Given the description of an element on the screen output the (x, y) to click on. 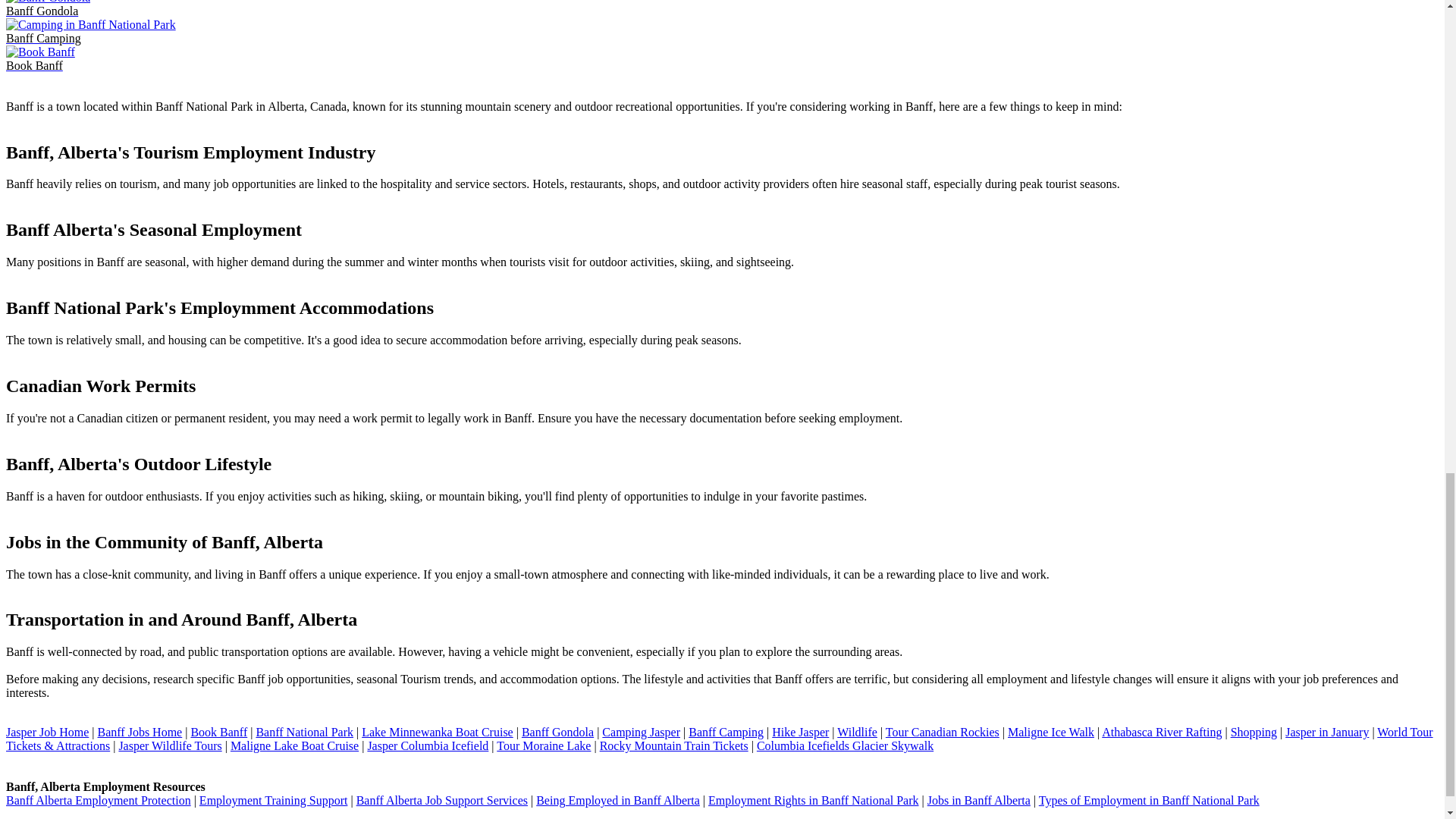
Jasper Columbia Icefield (426, 745)
Banff National Park (304, 731)
Jasper Job Home (46, 731)
Banff Jobs Home (140, 731)
Athabasca River Rafting (1161, 731)
Lake Minnewanka Boat Cruise (437, 731)
Employment Rights in Banff National Park (812, 799)
Maligne Lake Boat Cruise (294, 745)
Tour Moraine Lake (543, 745)
Banff Alberta Job Support Services (441, 799)
